Given the description of an element on the screen output the (x, y) to click on. 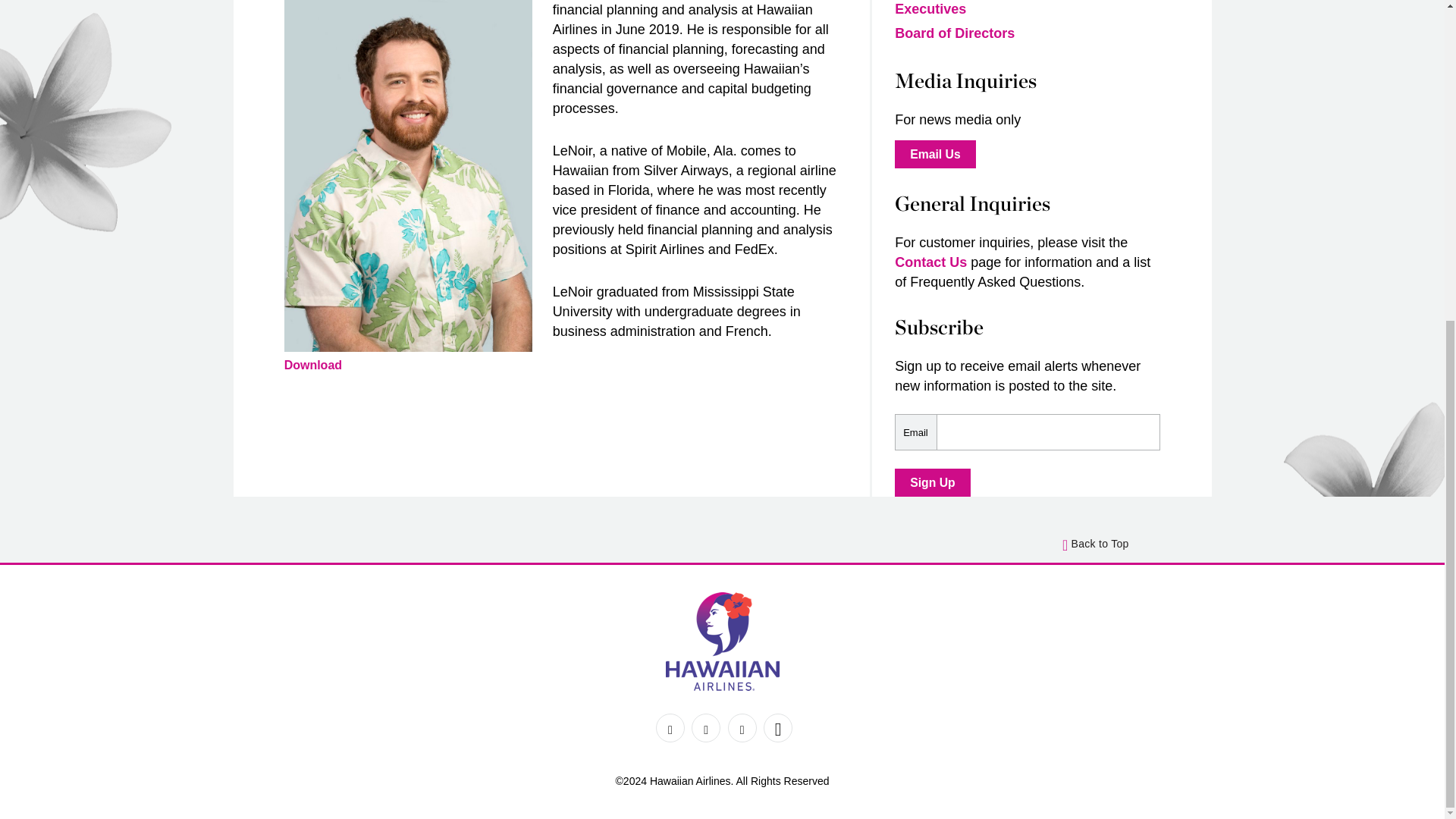
Visit us on Twitter (705, 727)
Visit us on Facebook (670, 727)
Visit us on Instagram (742, 727)
Visit us on YouTube (777, 727)
